Given the description of an element on the screen output the (x, y) to click on. 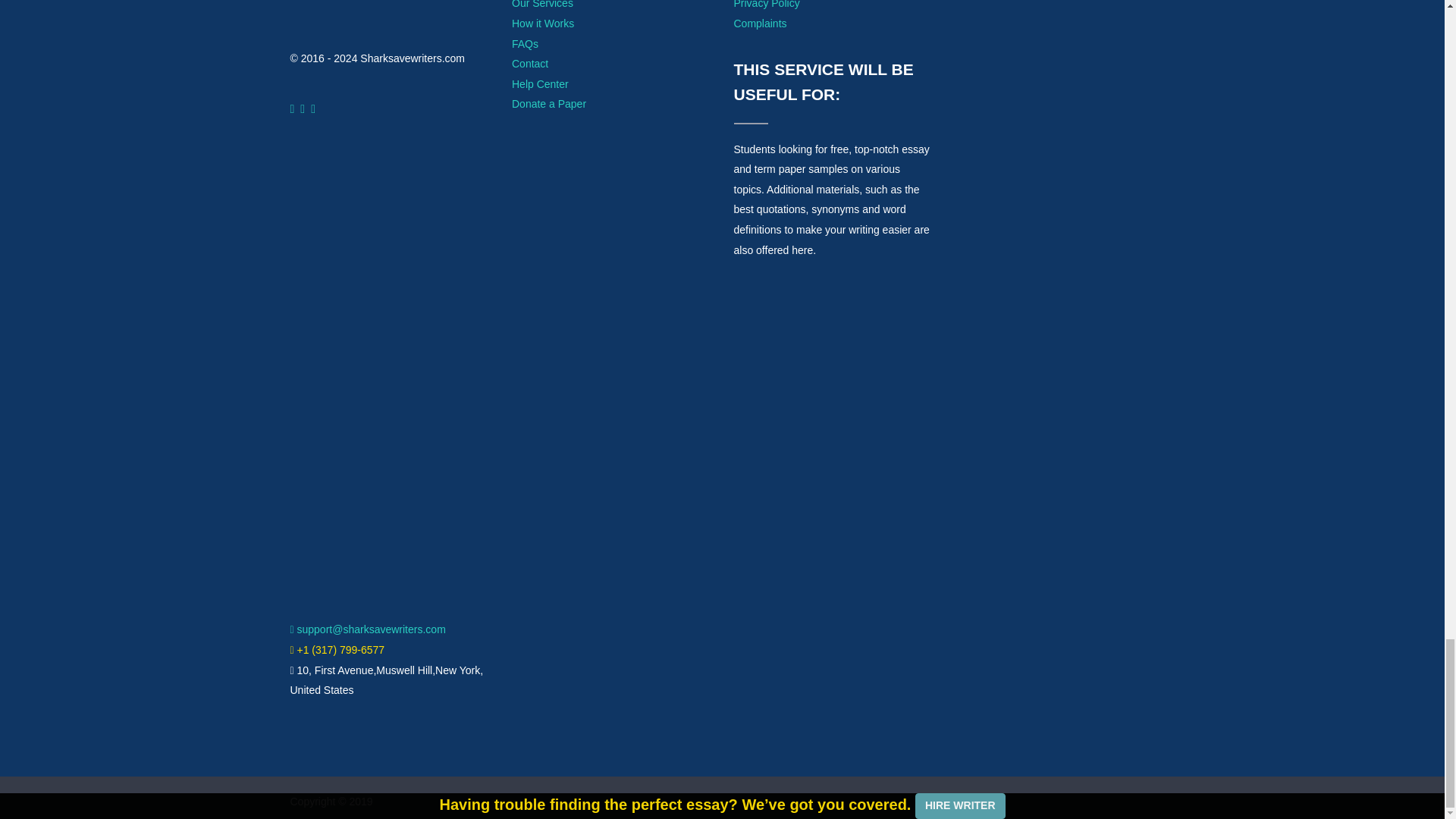
Privacy Policy (766, 4)
FAQs (525, 43)
Contact (530, 63)
Complaints (760, 23)
Donate a Paper (549, 103)
Help Center (540, 83)
How it Works (542, 23)
Our Services (542, 4)
